Given the description of an element on the screen output the (x, y) to click on. 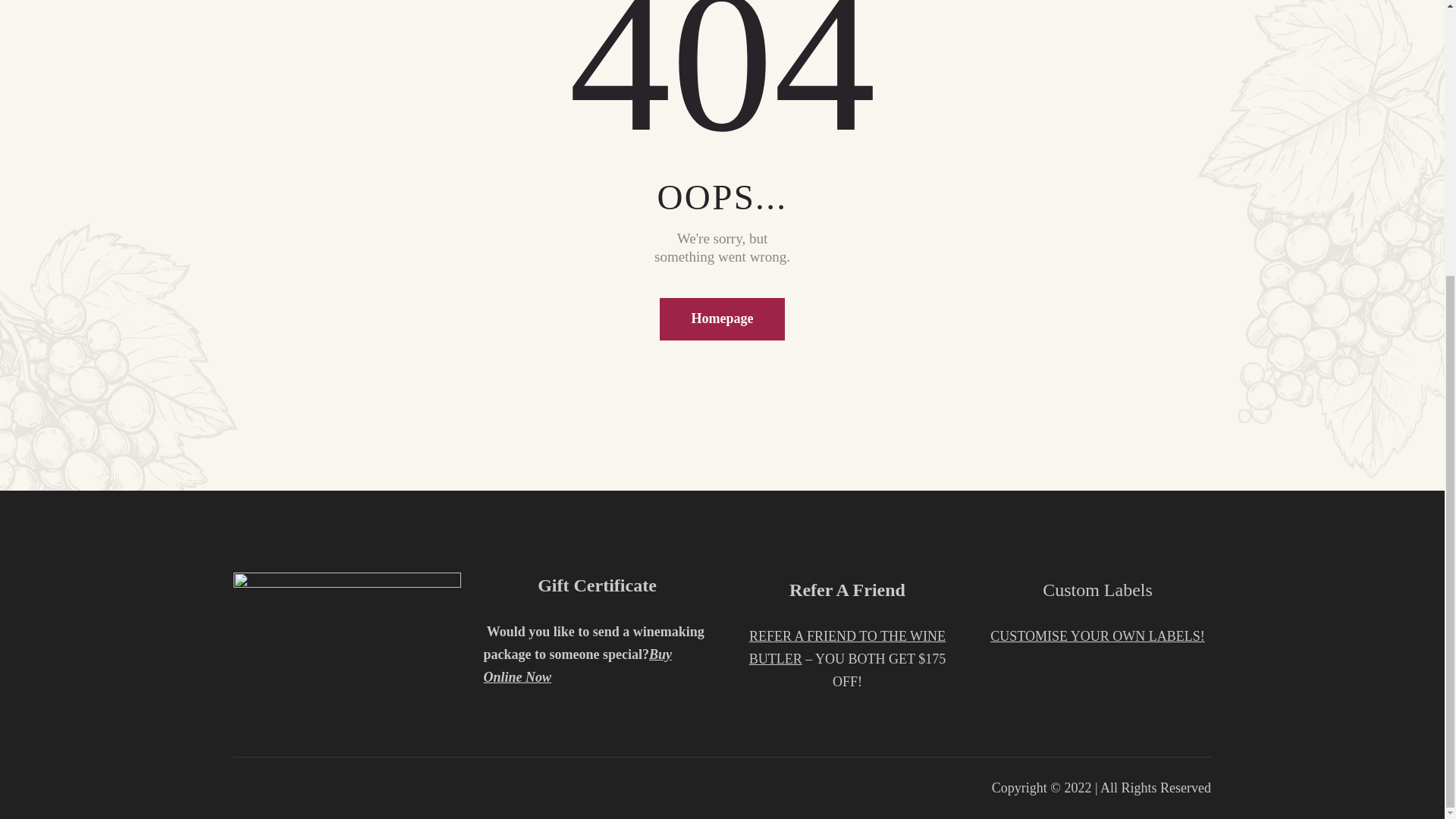
Gift Certificate (596, 585)
CUSTOMISE YOUR OWN LABELS! (1097, 635)
Buy Online Now (577, 665)
REFER A FRIEND TO THE WINE BUTLER (846, 647)
Homepage (722, 319)
